Given the description of an element on the screen output the (x, y) to click on. 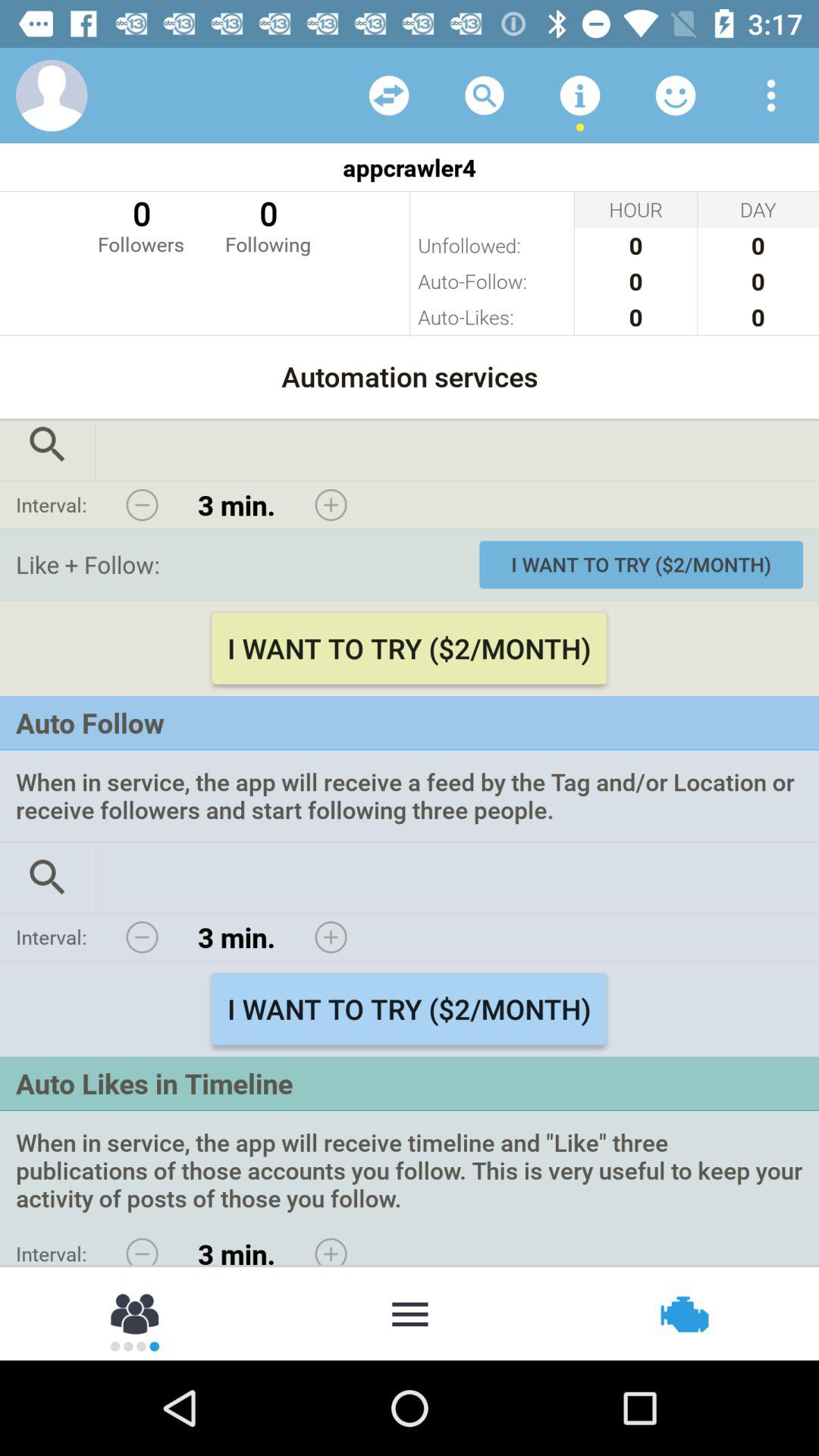
set lower (142, 1247)
